Given the description of an element on the screen output the (x, y) to click on. 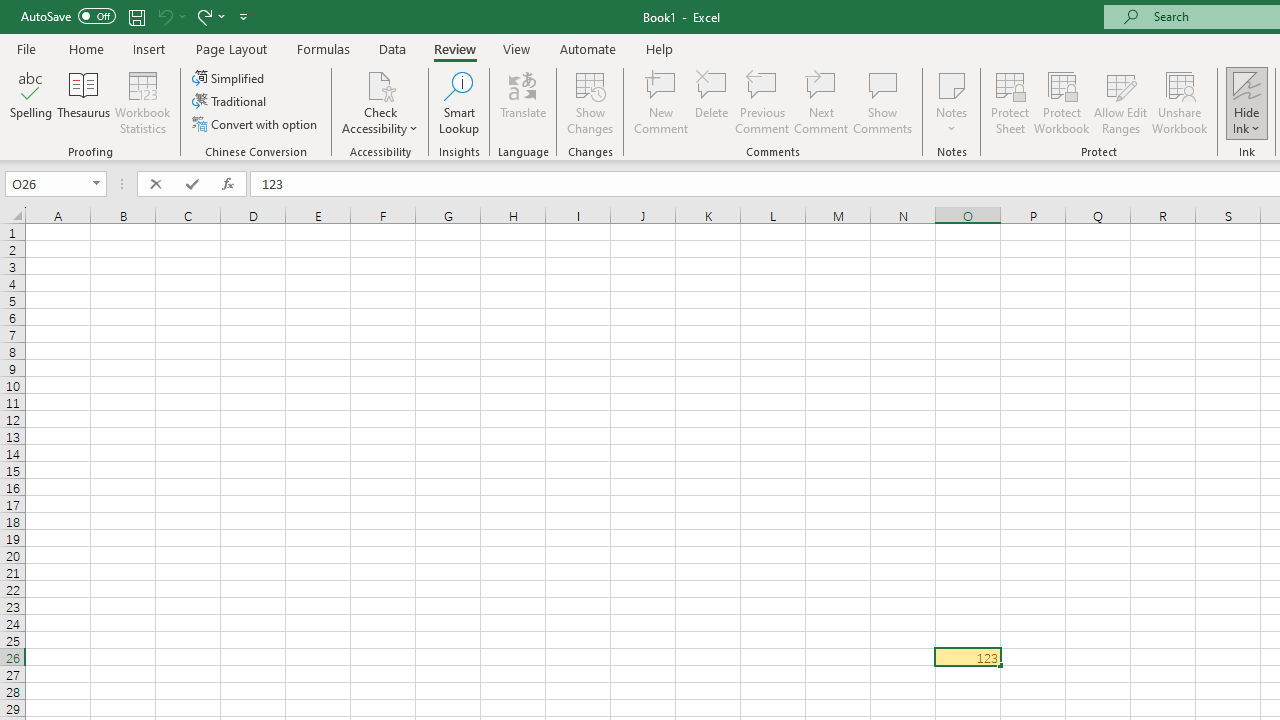
Show Changes (589, 102)
Hide Ink (1247, 84)
Previous Comment (762, 102)
Protect Workbook... (1061, 102)
Show Comments (883, 102)
Open (96, 183)
Review (454, 48)
Redo (203, 15)
Notes (951, 102)
AutoSave (68, 16)
Customize Quick Access Toolbar (244, 15)
Protect Sheet... (1010, 102)
View (517, 48)
Home (86, 48)
Allow Edit Ranges (1120, 102)
